Given the description of an element on the screen output the (x, y) to click on. 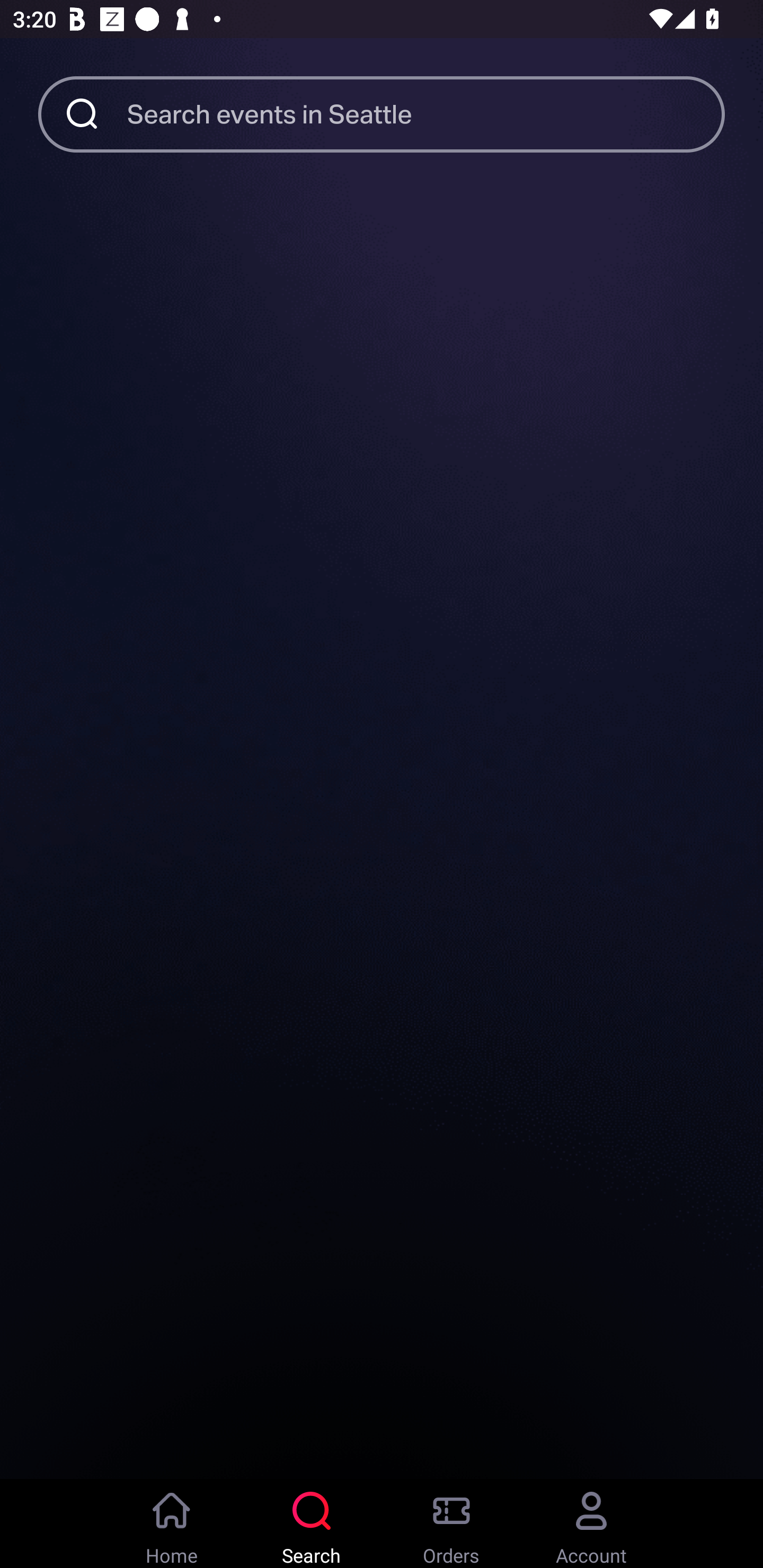
Search events in Seattle (425, 113)
Home (171, 1523)
Orders (451, 1523)
Account (591, 1523)
